Given the description of an element on the screen output the (x, y) to click on. 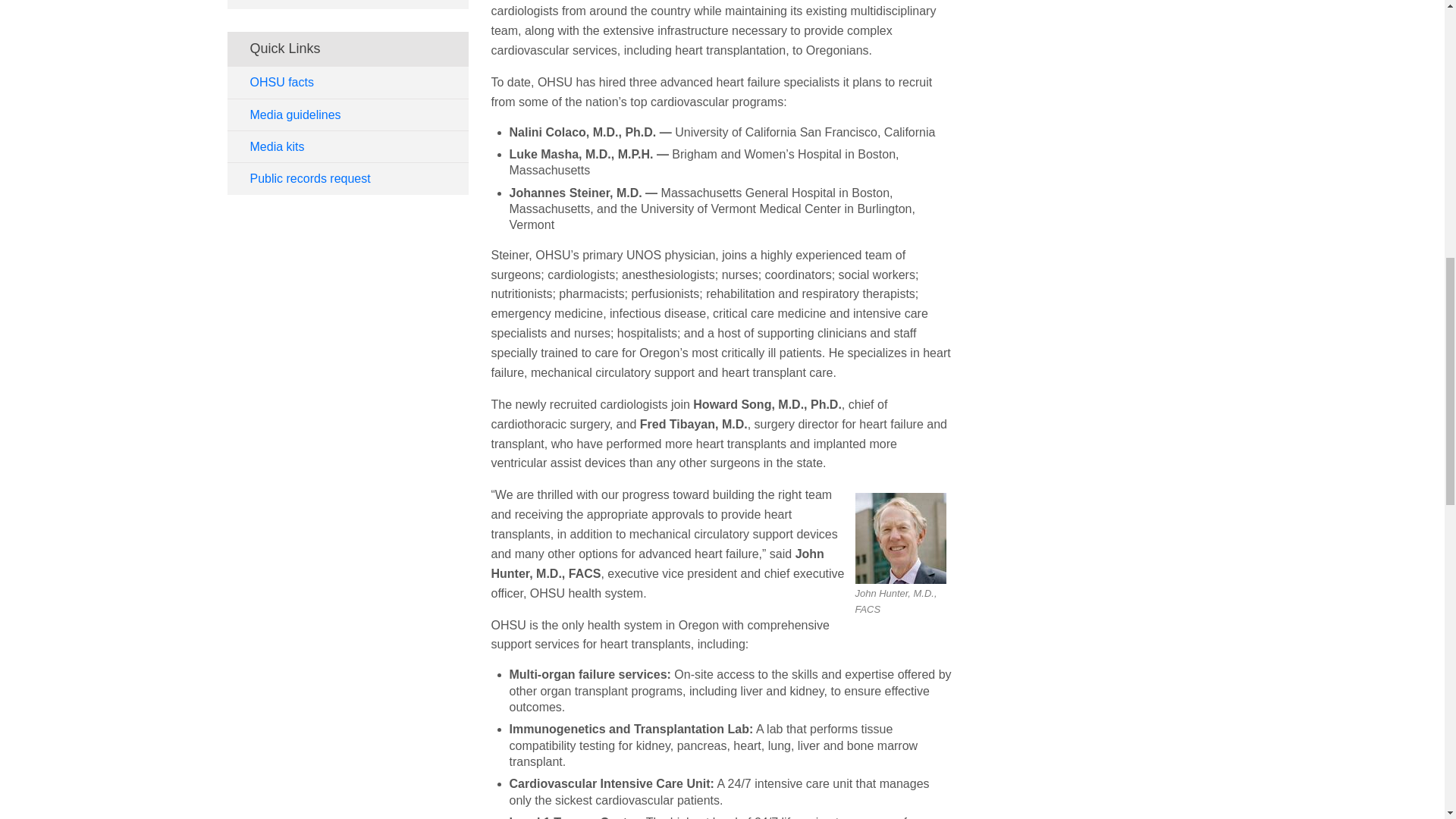
OHSU facts (347, 82)
Media guidelines (347, 115)
Media kits (347, 146)
John Hunter, M.D., FACS (901, 538)
Public records request (347, 178)
